Given the description of an element on the screen output the (x, y) to click on. 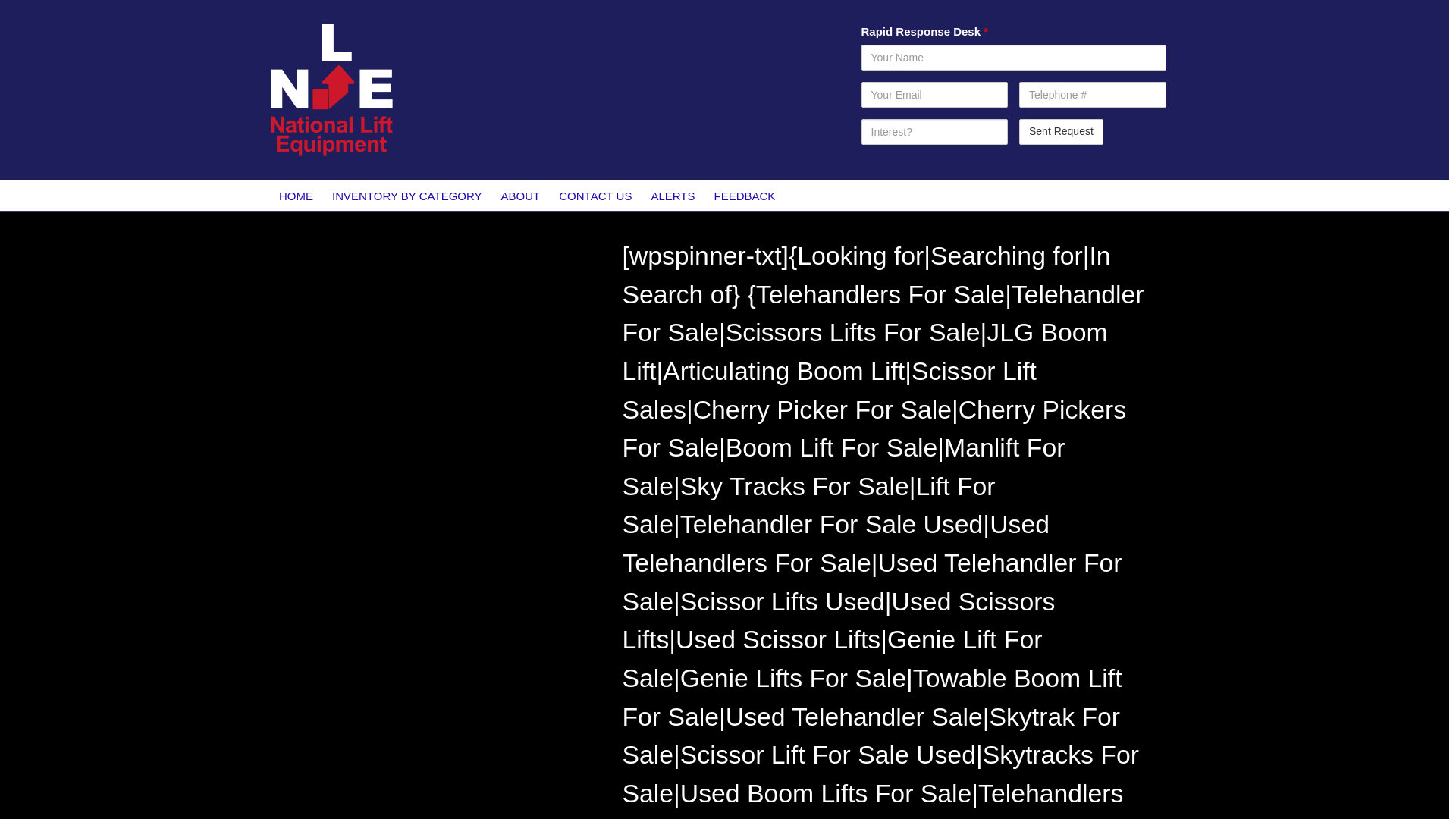
Sent Request (1061, 131)
INVENTORY BY CATEGORY (407, 195)
FEEDBACK (744, 195)
Used Construction Equipment For Sale in Pennsylvania (414, 320)
CONTACT US (596, 195)
ALERTS (673, 195)
HOME (296, 195)
ABOUT (521, 195)
Sent Request (1061, 131)
